Given the description of an element on the screen output the (x, y) to click on. 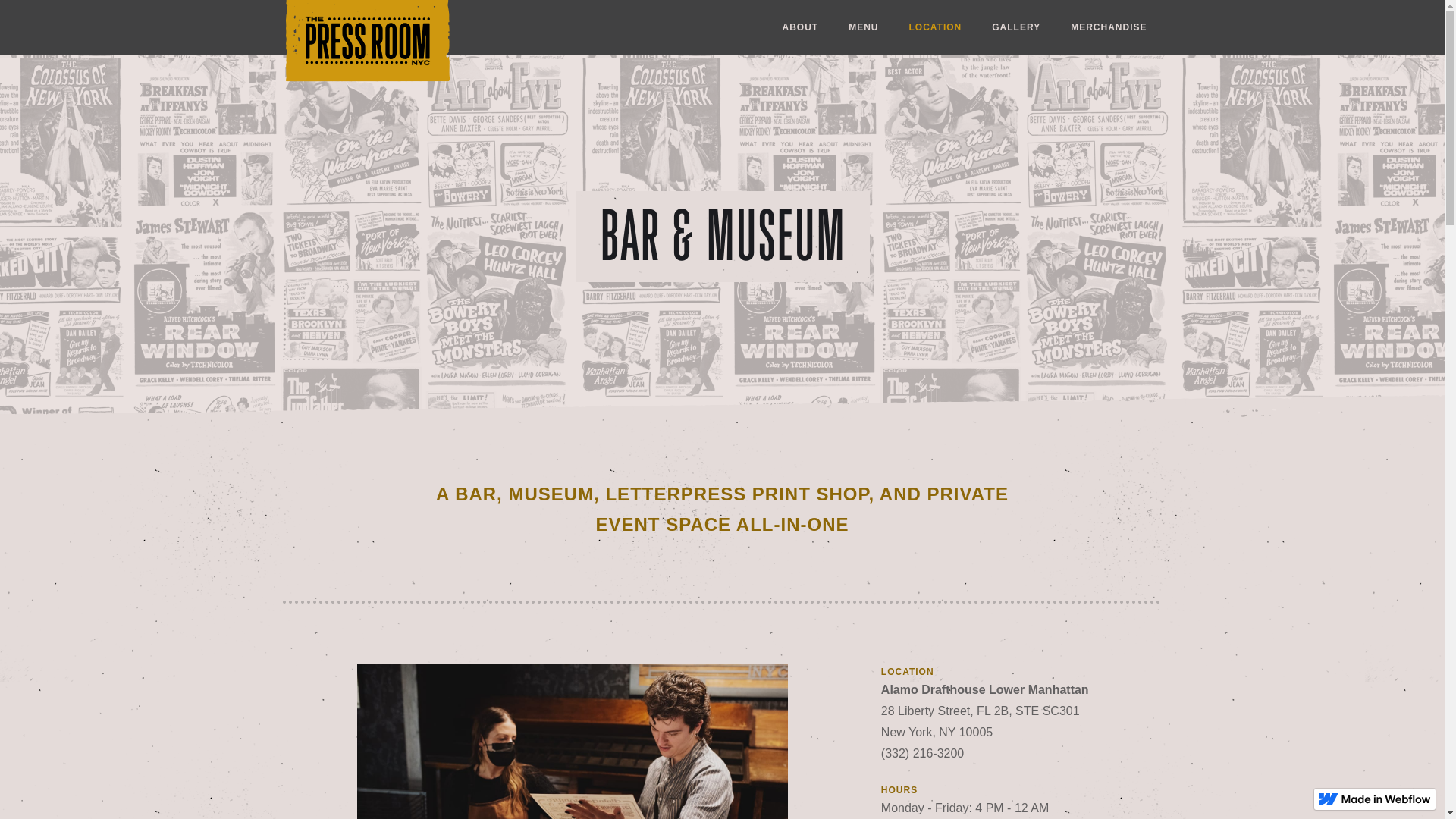
MERCHANDISE Element type: text (1108, 26)
LOCATION Element type: text (934, 26)
Alamo Drafthouse Lower Manhattan Element type: text (1021, 689)
ABOUT Element type: text (799, 26)
GALLERY Element type: text (1015, 26)
MENU Element type: text (863, 26)
